Given the description of an element on the screen output the (x, y) to click on. 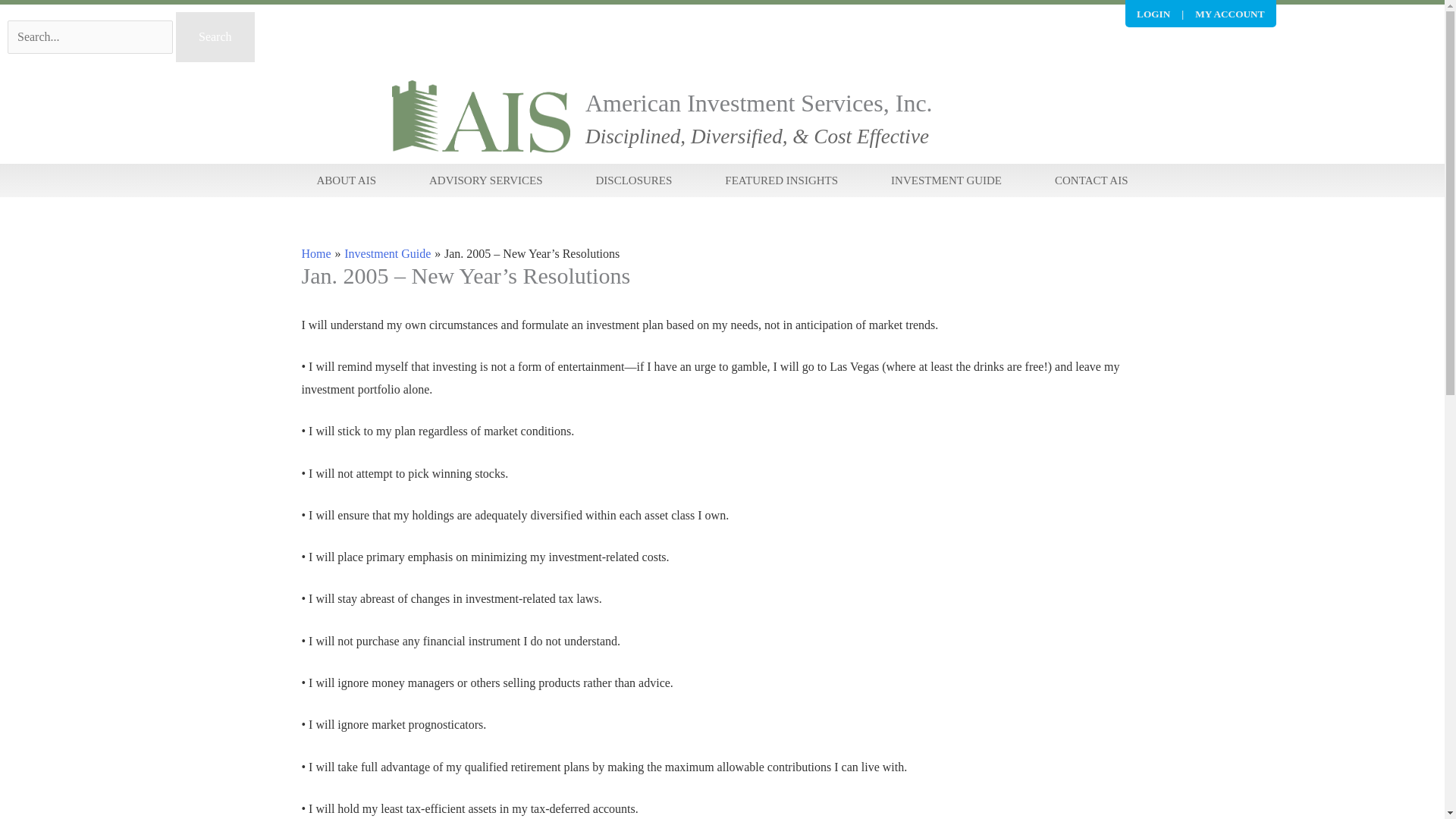
ABOUT AIS (345, 180)
INVESTMENT GUIDE (945, 180)
Investment Guide (386, 253)
ADVISORY SERVICES (486, 180)
MY ACCOUNT (1229, 13)
LOGIN (1153, 13)
FEATURED INSIGHTS (781, 180)
Home (316, 253)
Search (215, 37)
Search (215, 37)
